Given the description of an element on the screen output the (x, y) to click on. 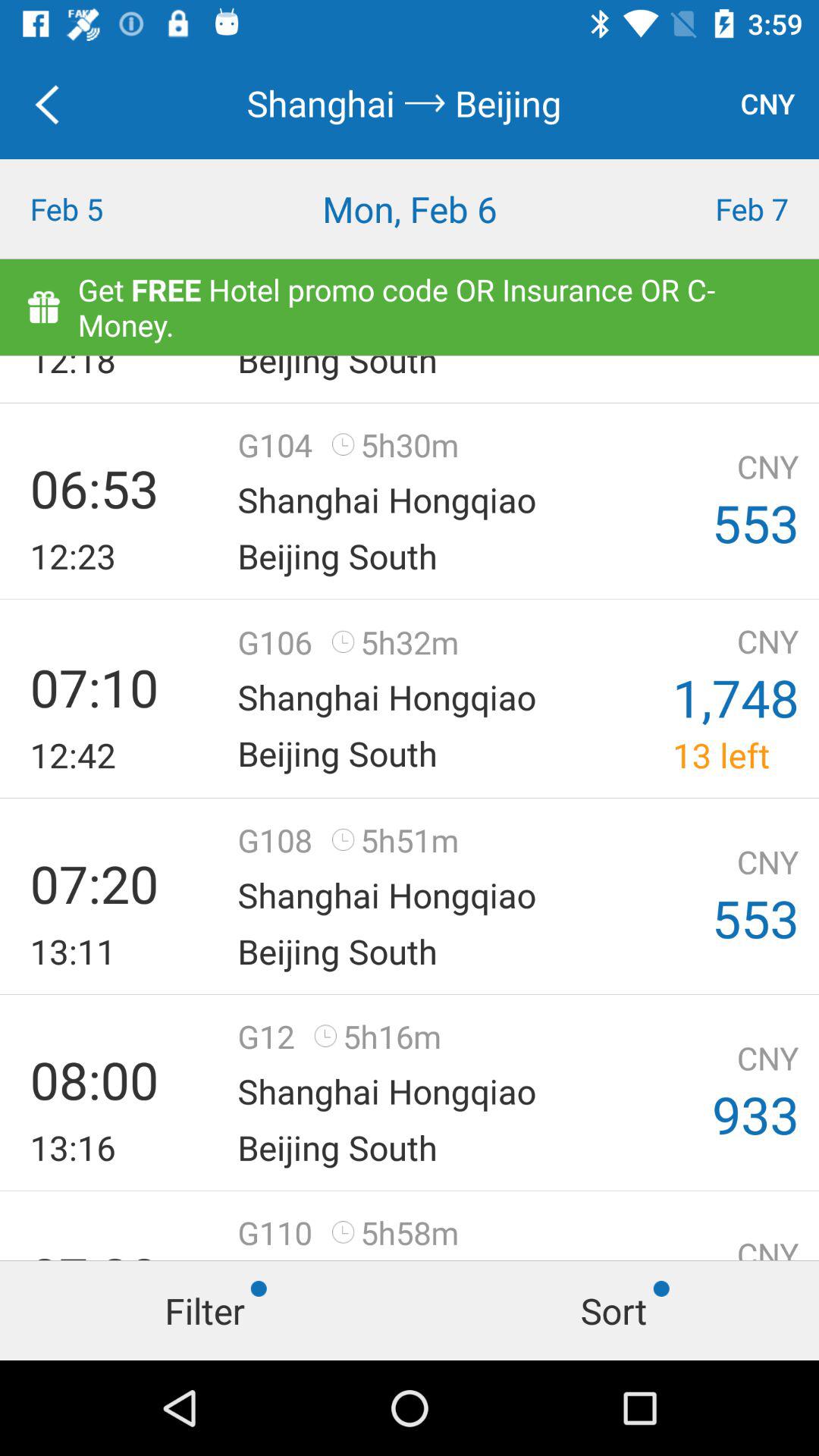
choose feb 7 item (716, 208)
